Given the description of an element on the screen output the (x, y) to click on. 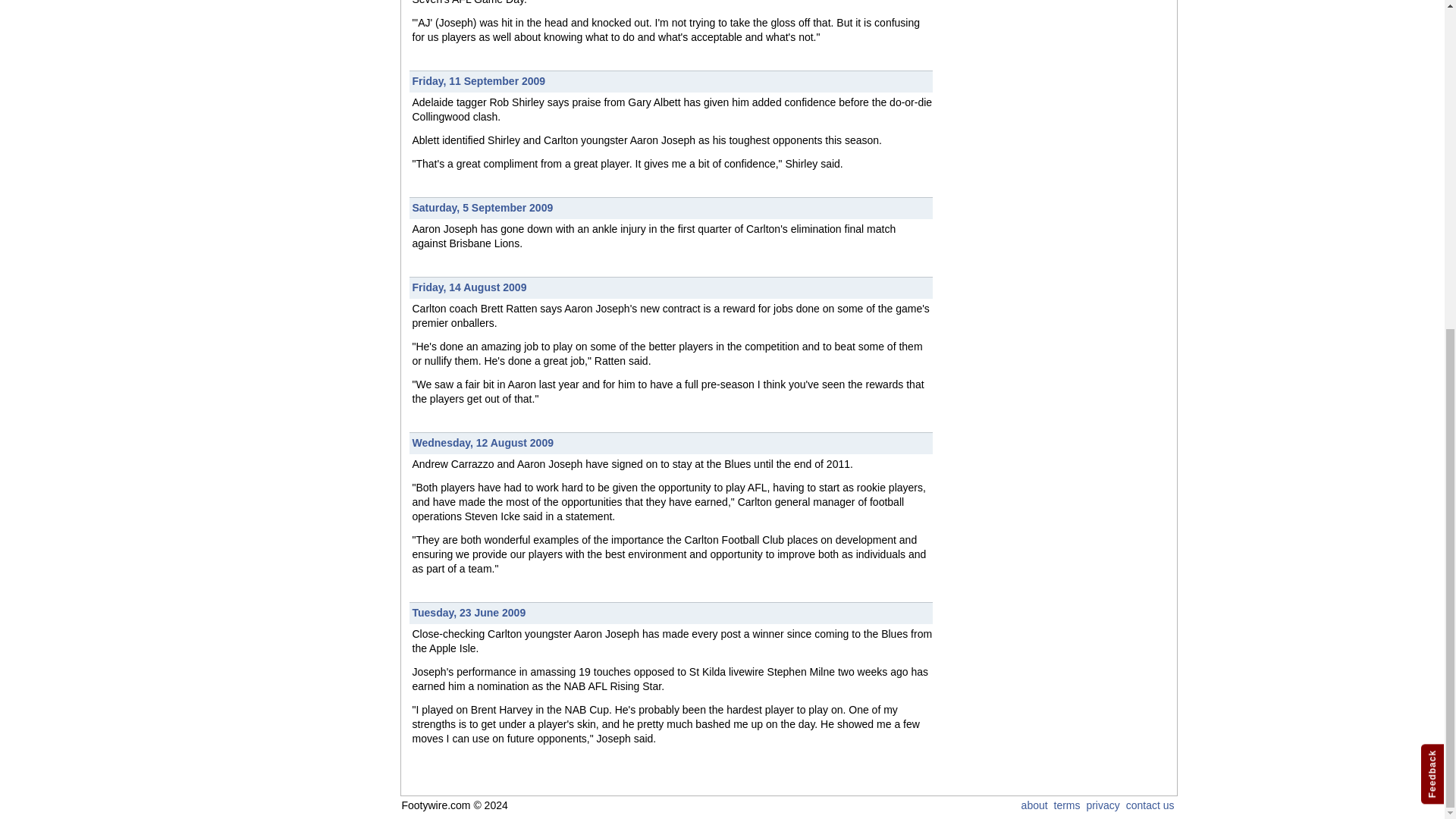
praise (585, 102)
